Given the description of an element on the screen output the (x, y) to click on. 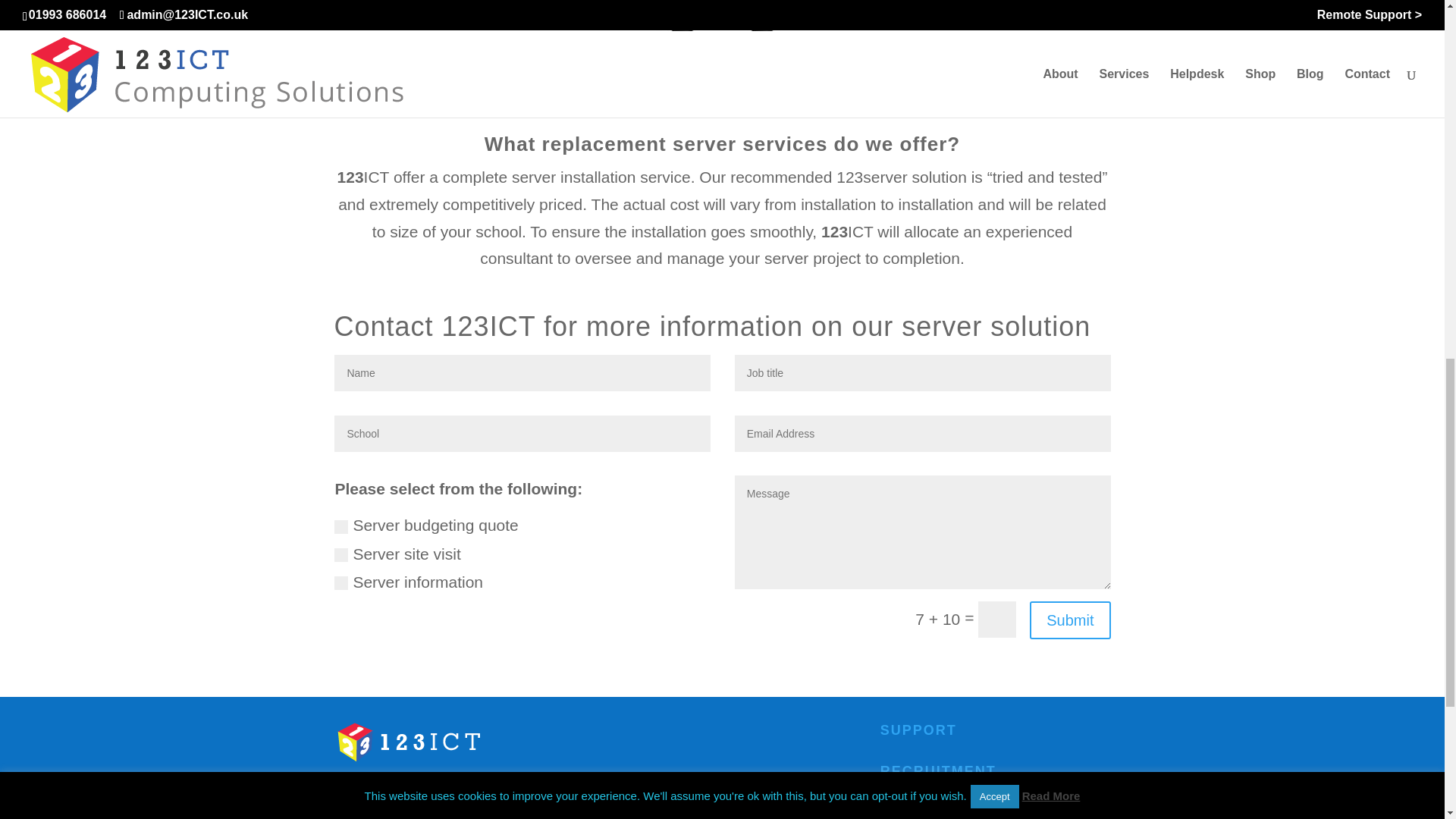
PRIVACY POLICY (947, 811)
SUPPORT (918, 729)
RECRUITMENT (937, 770)
Submit (1069, 620)
